Given the description of an element on the screen output the (x, y) to click on. 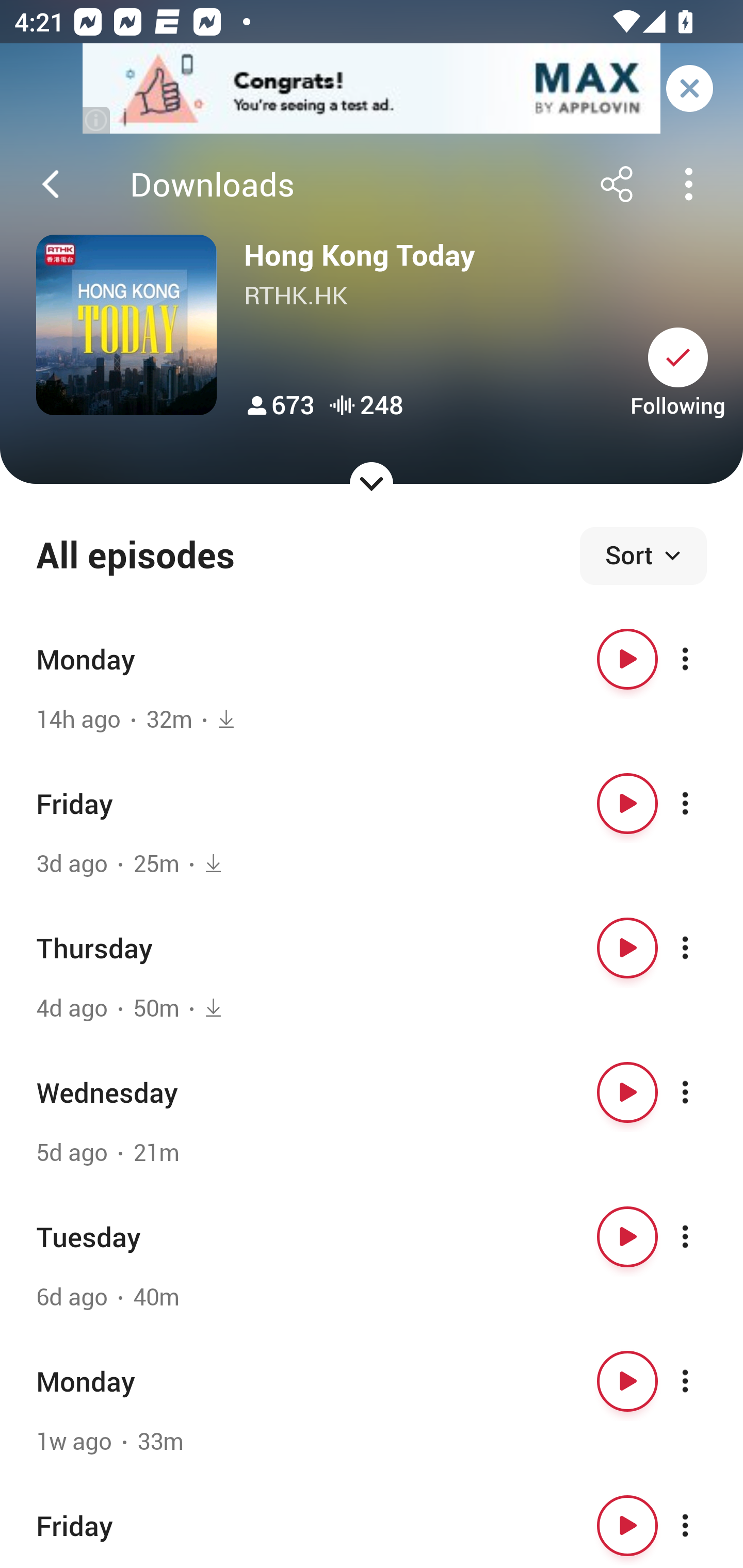
app-monetization (371, 88)
(i) (96, 119)
Back (50, 184)
Unsubscribe button (677, 357)
Sort episodes Sort (643, 555)
Play button (627, 659)
More options (703, 659)
Play button (627, 803)
More options (703, 803)
Play button (627, 947)
More options (703, 947)
Play button (627, 1092)
More options (703, 1092)
Play button (627, 1236)
More options (703, 1236)
Play button (627, 1381)
More options (703, 1381)
Play button (627, 1525)
More options (703, 1525)
